Given the description of an element on the screen output the (x, y) to click on. 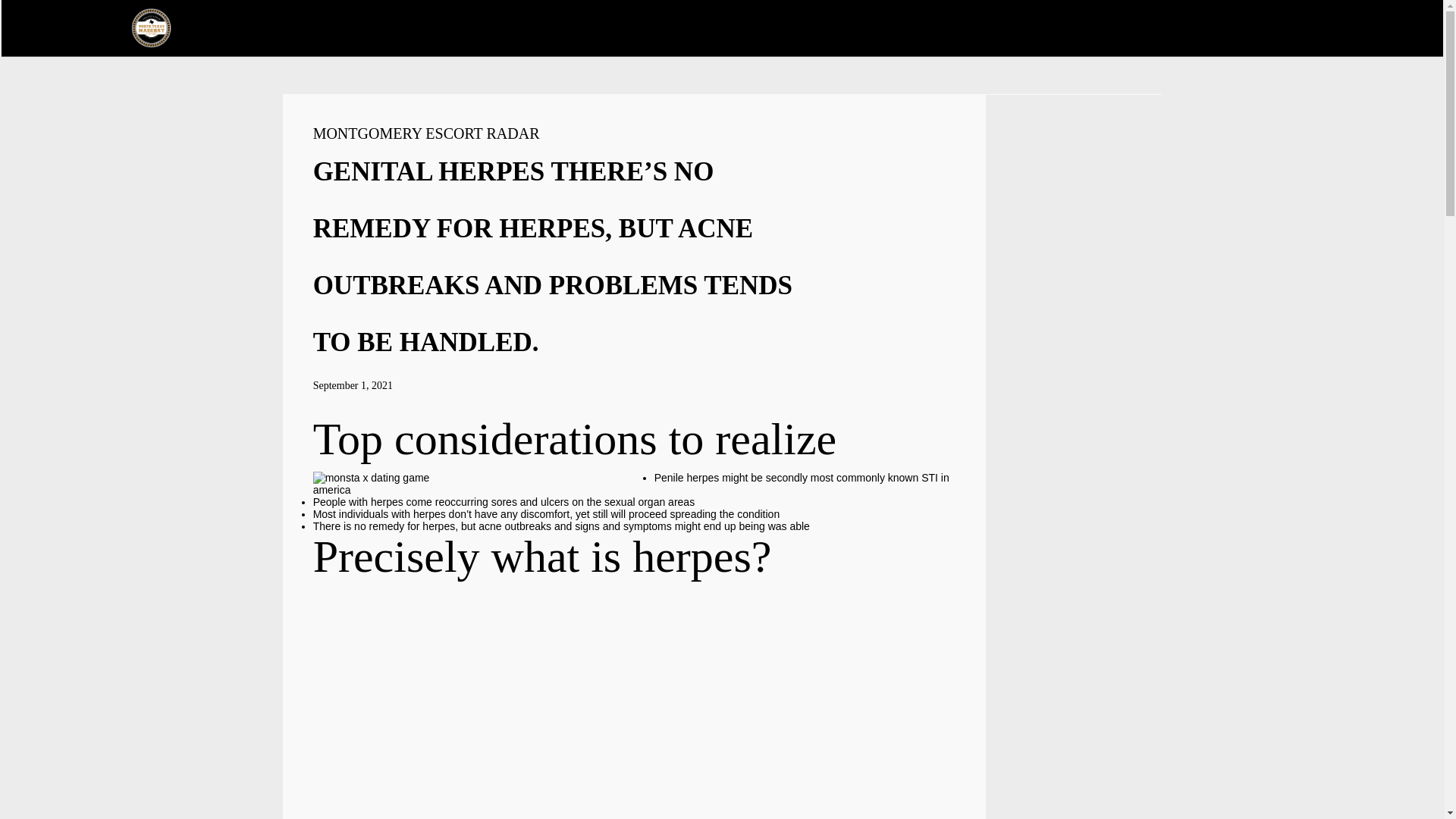
September 1, 2021 (353, 385)
MONTGOMERY ESCORT RADAR (426, 133)
montgomery escort radar (426, 133)
